Given the description of an element on the screen output the (x, y) to click on. 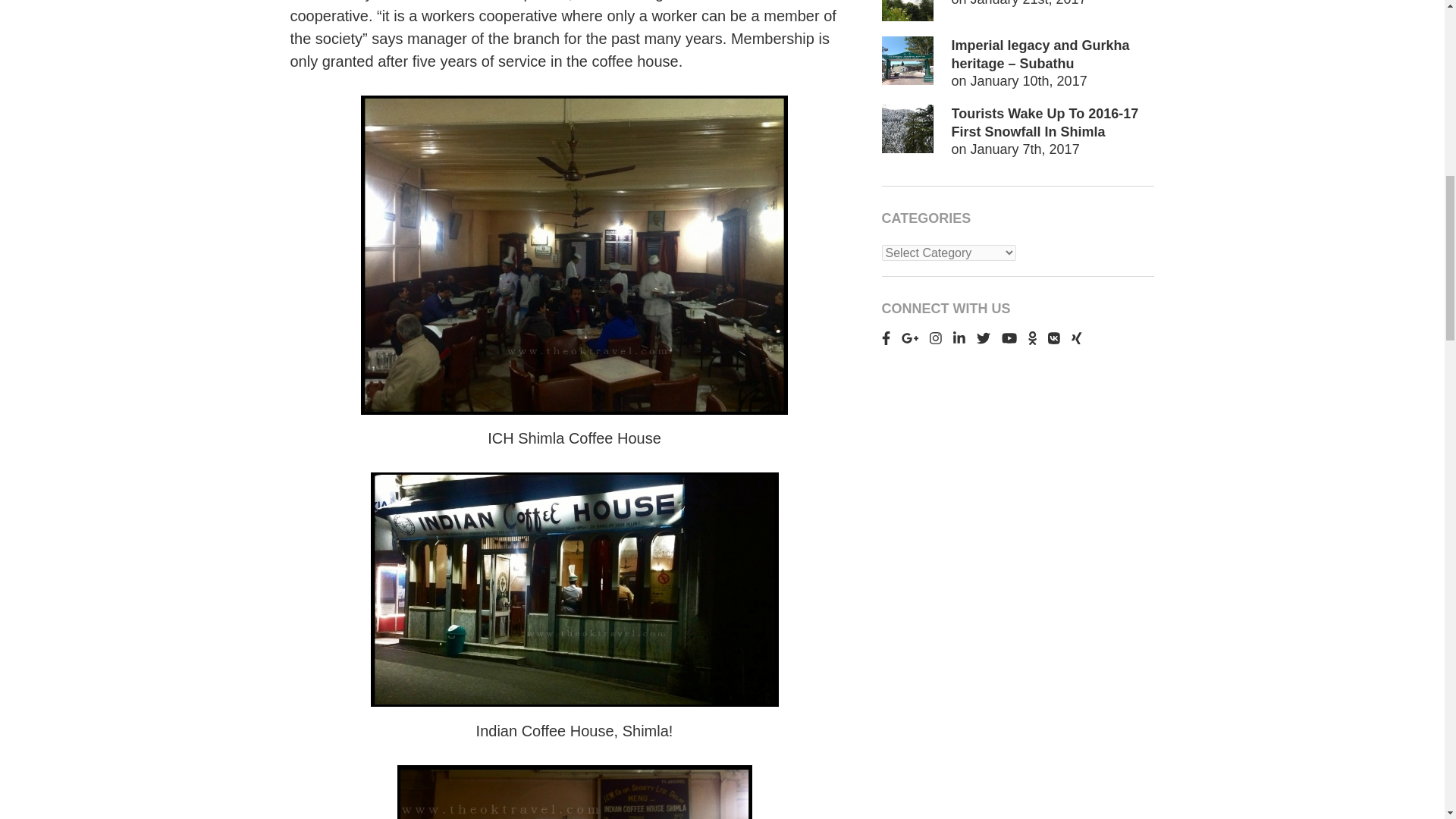
Twitter (983, 338)
YouTube (1008, 338)
Google Plus (909, 338)
ICH Shimla Mall Road Ridge (573, 589)
ICH Shimla Rate List Mall Road (574, 791)
